Given the description of an element on the screen output the (x, y) to click on. 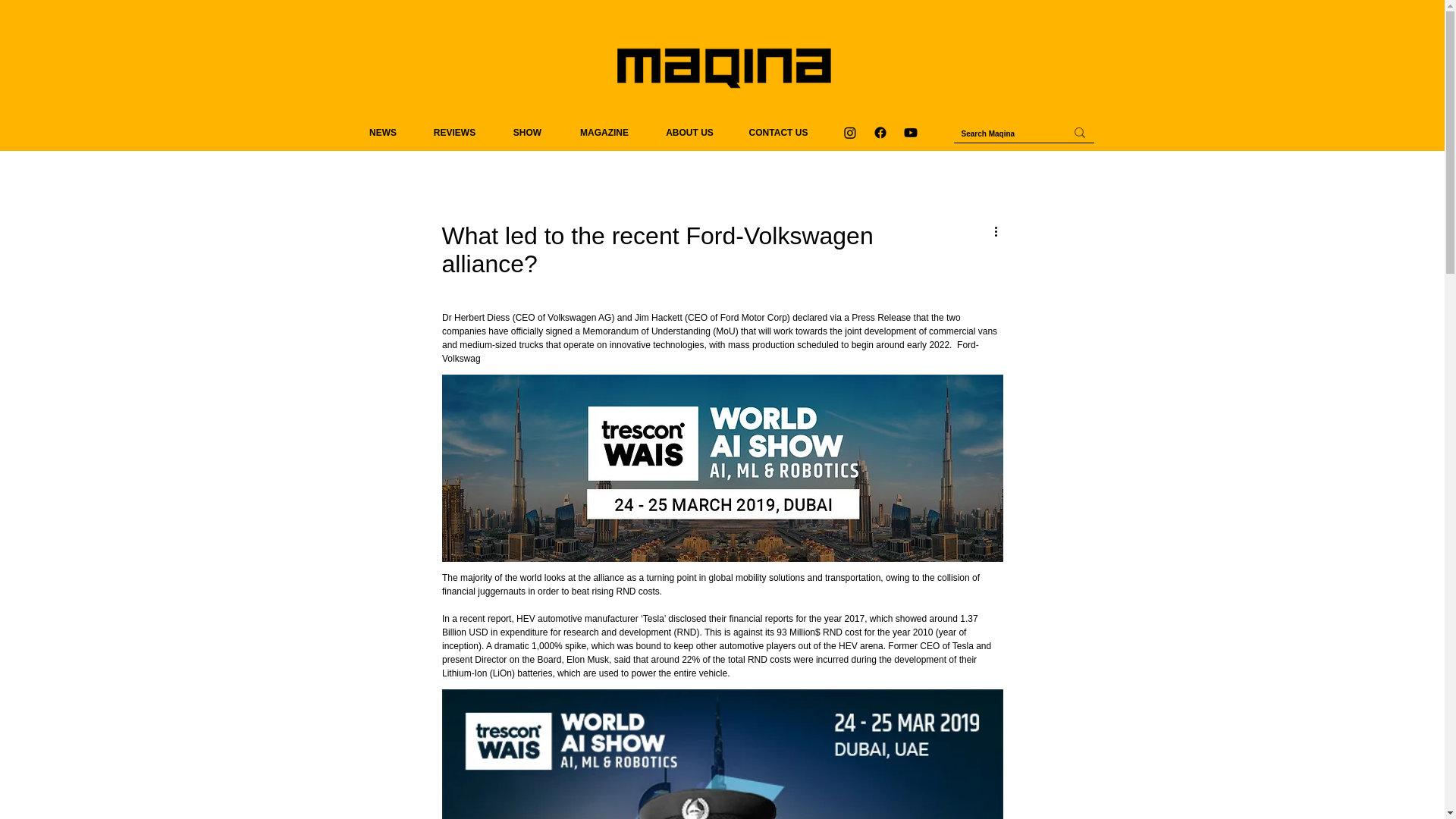
REVIEWS (454, 132)
SHOW (527, 132)
NEWS (382, 132)
MAGAZINE (603, 132)
ABOUT US (688, 132)
CONTACT US (777, 132)
